Given the description of an element on the screen output the (x, y) to click on. 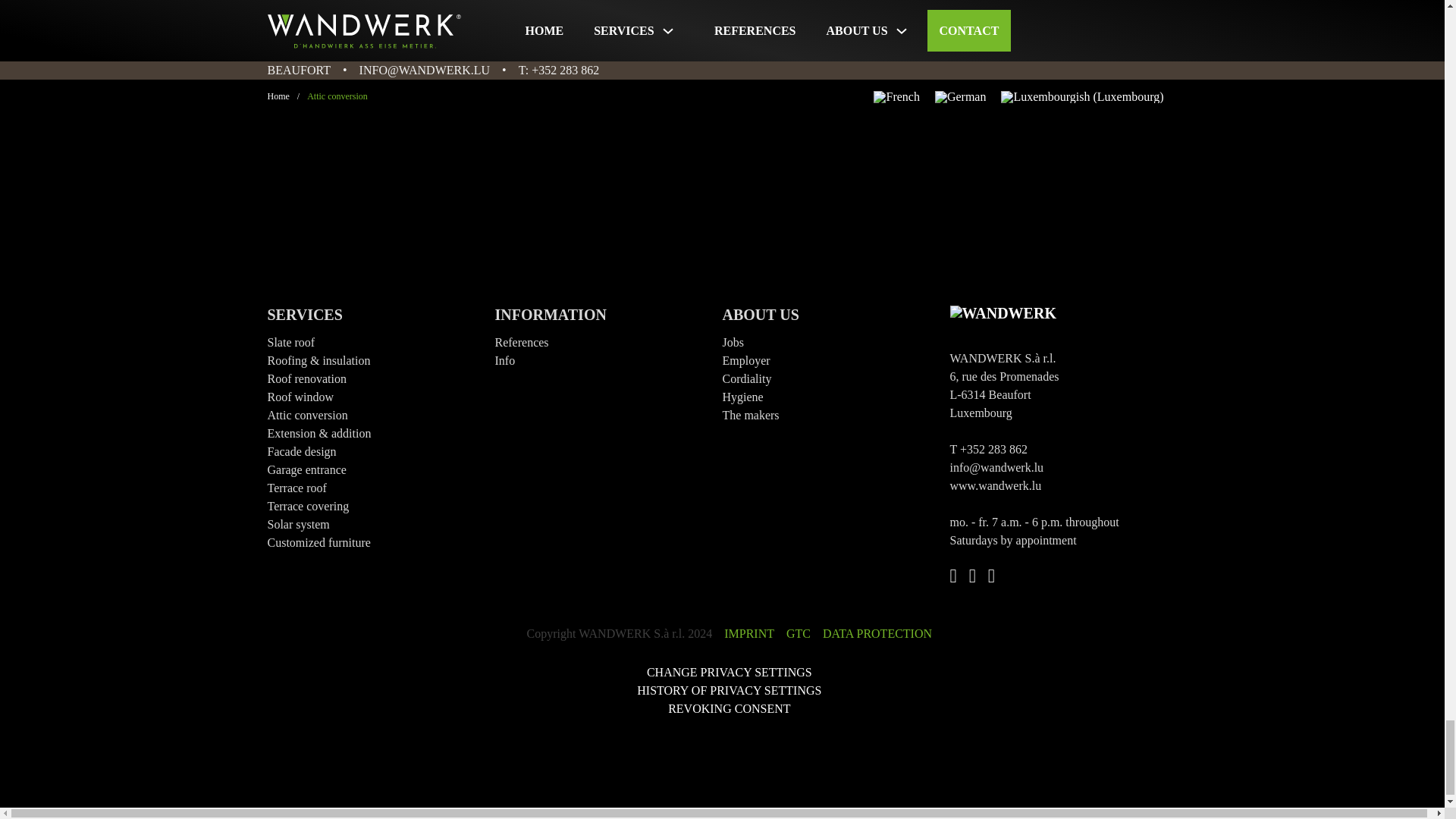
instagram (722, 36)
facebook (667, 36)
